Given the description of an element on the screen output the (x, y) to click on. 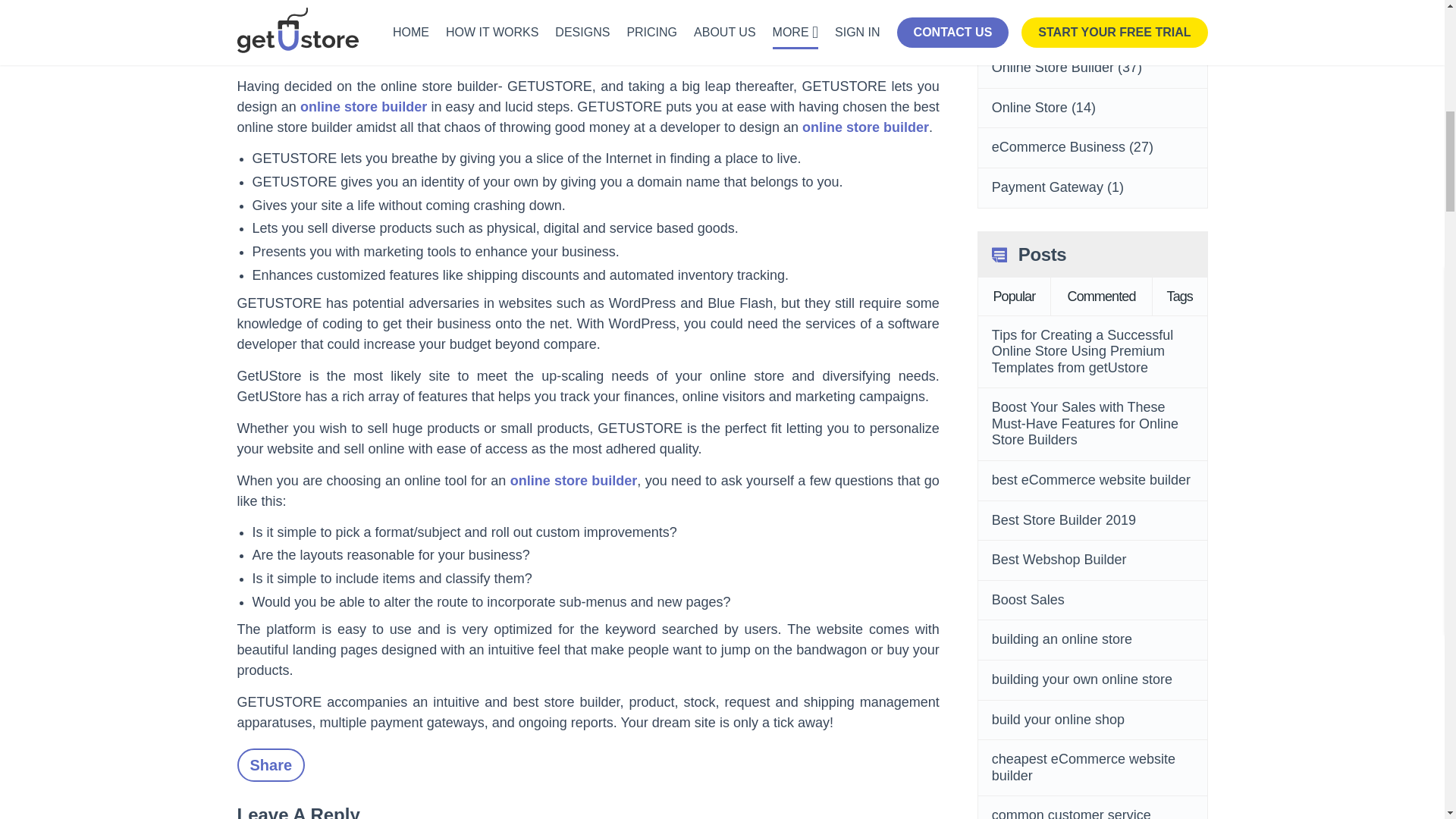
Business Development (1061, 28)
